Given the description of an element on the screen output the (x, y) to click on. 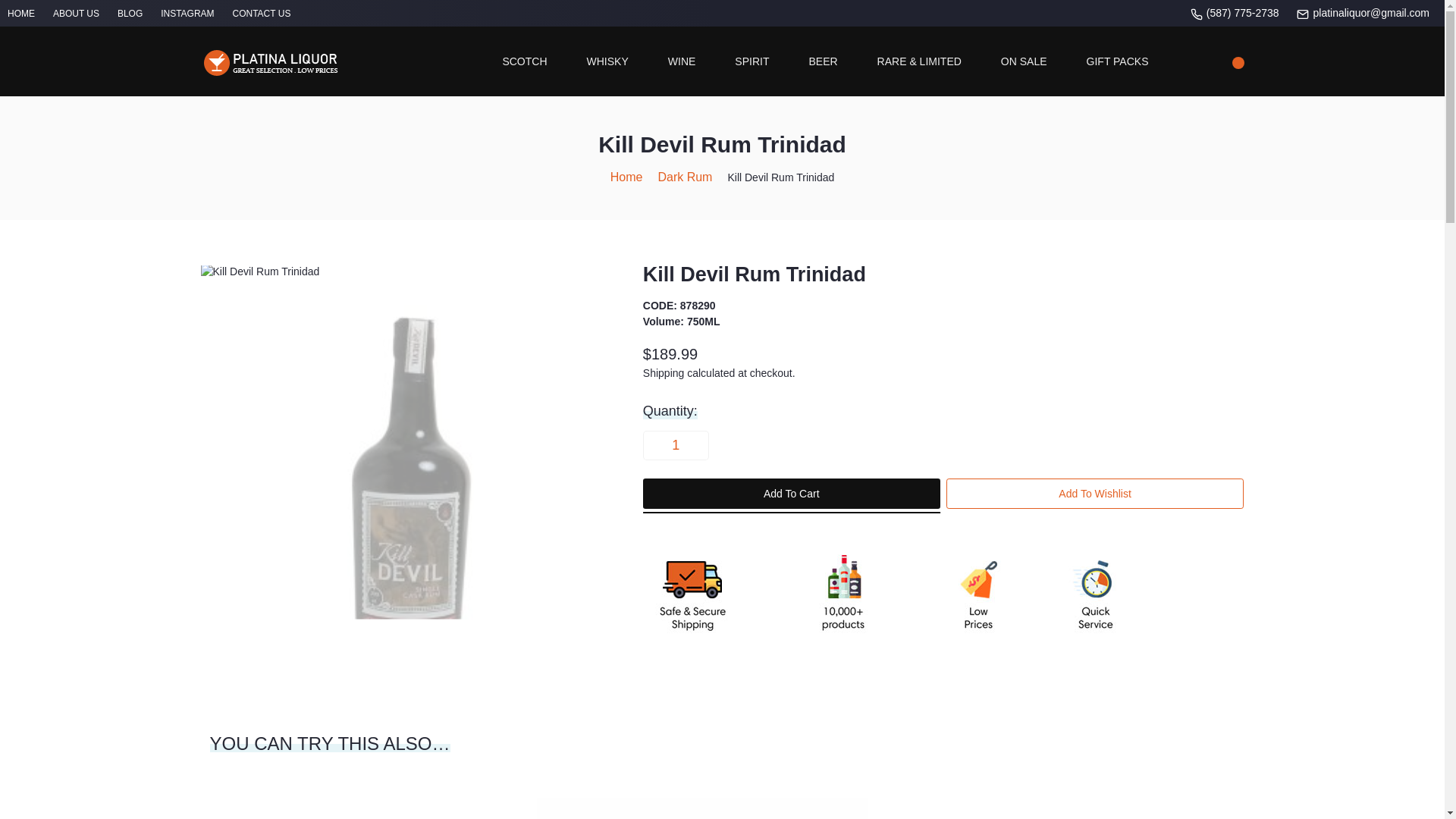
INSTAGRAM (186, 13)
SCOTCH (524, 61)
WHISKY (607, 61)
ABOUT US (75, 13)
WINE (681, 61)
HOME (21, 13)
BLOG (129, 13)
1 (675, 444)
CONTACT US (261, 13)
